Given the description of an element on the screen output the (x, y) to click on. 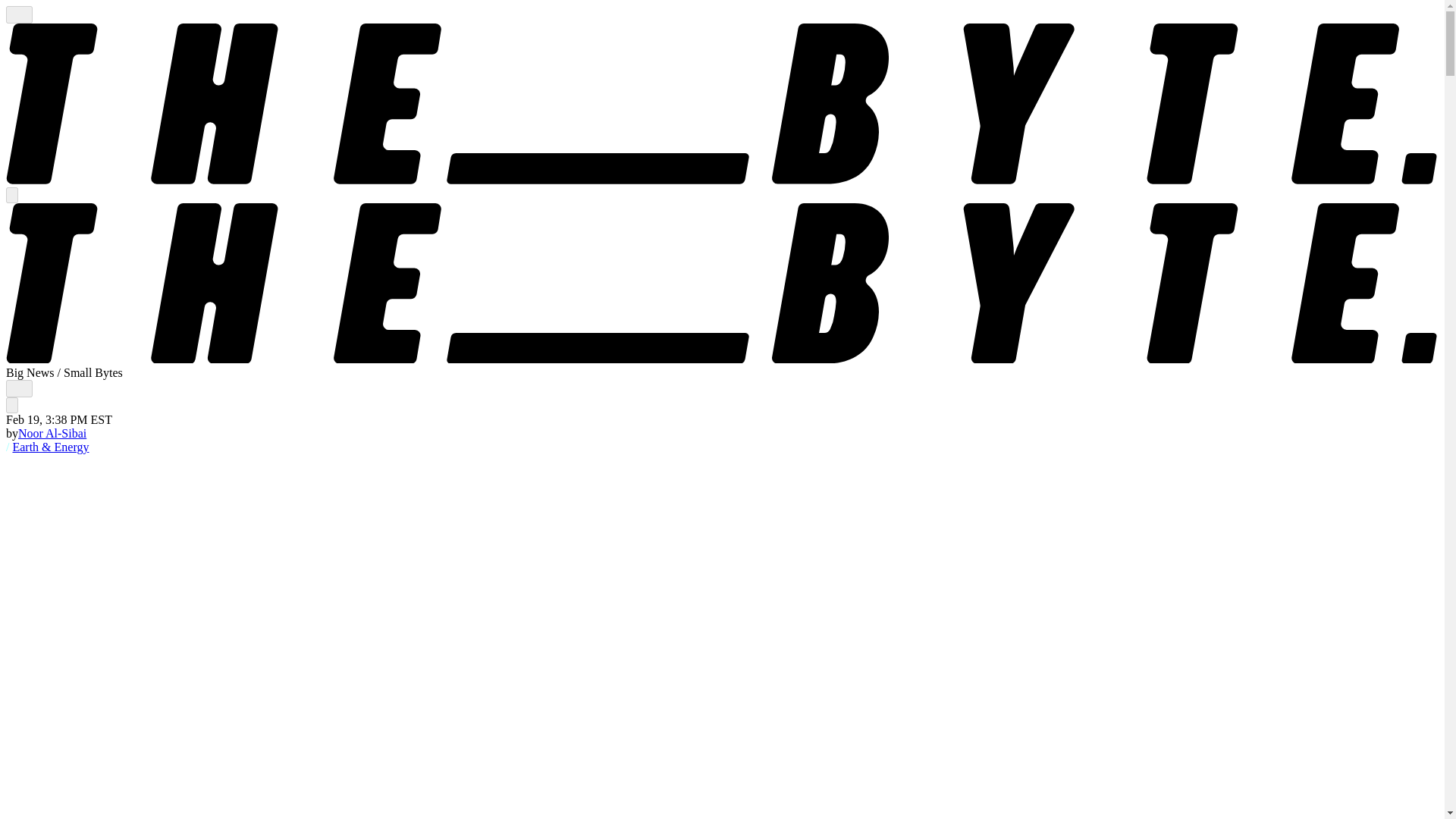
Noor Al-Sibai (51, 432)
Noor Al-Sibai (51, 432)
